Given the description of an element on the screen output the (x, y) to click on. 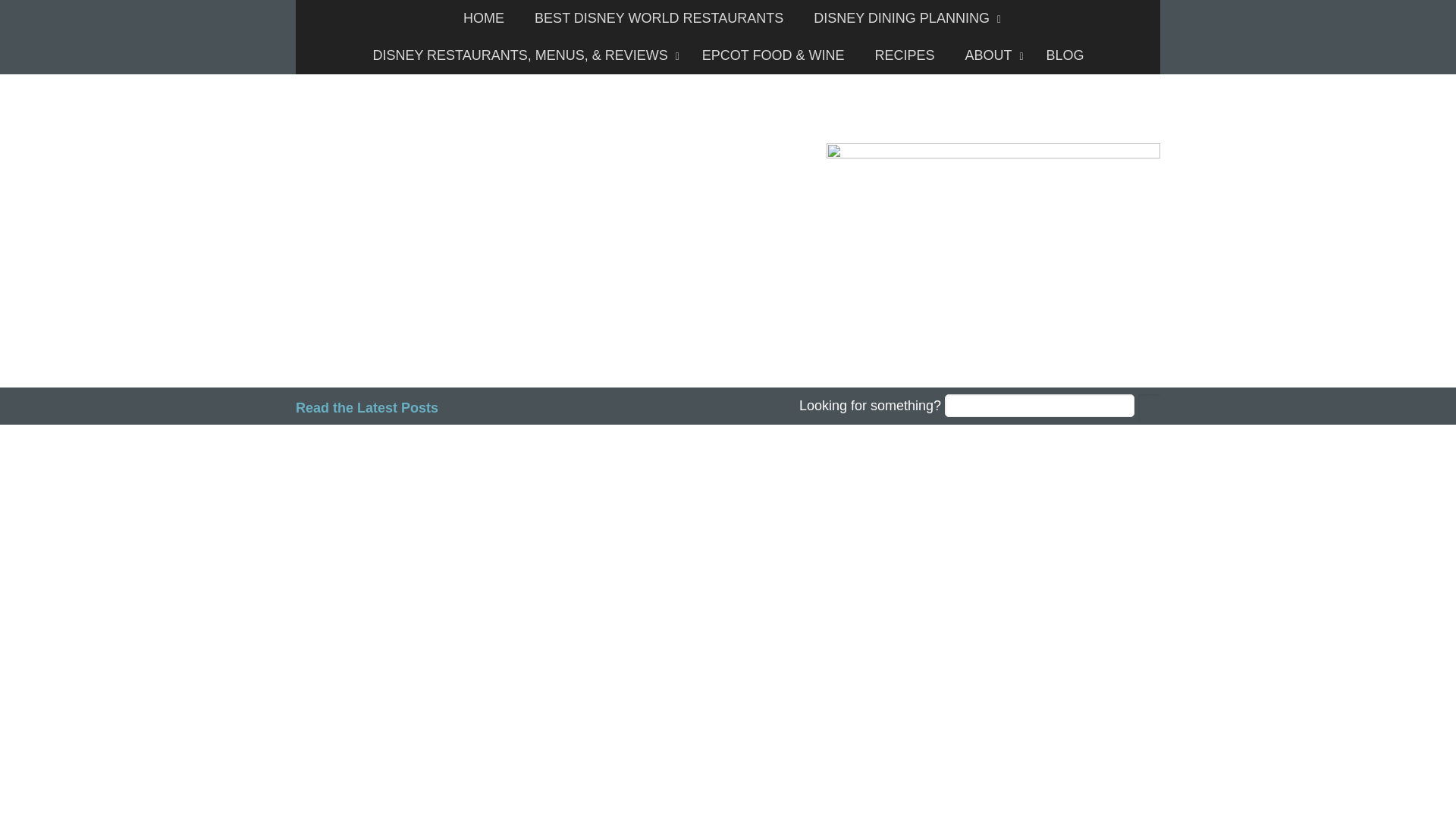
DISNEY DINING PLANNING (903, 18)
BEST DISNEY WORLD RESTAURANTS (658, 18)
HOME (483, 18)
